Given the description of an element on the screen output the (x, y) to click on. 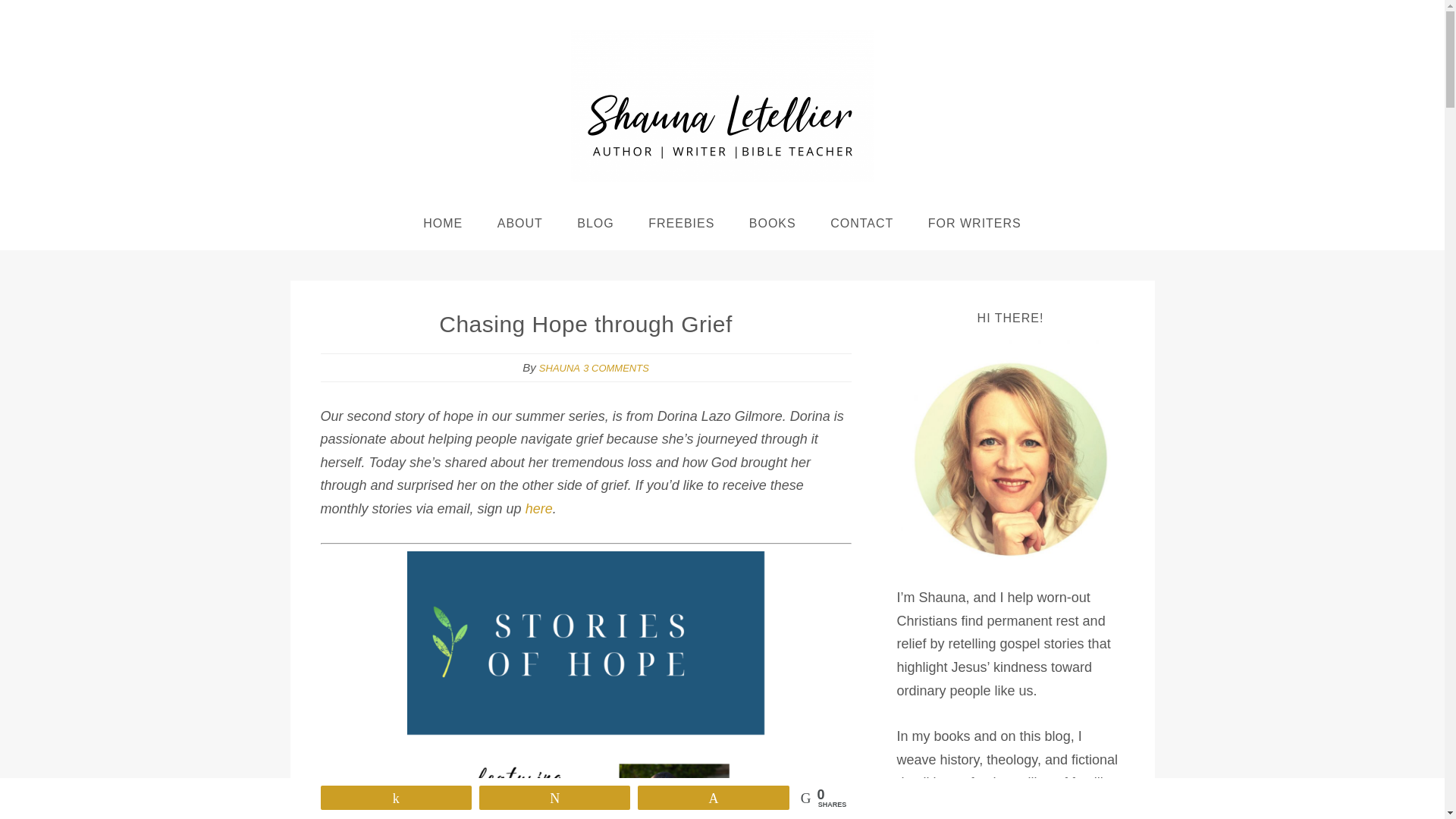
SHAUNA LETELLIER (721, 105)
CONTACT (861, 223)
3 COMMENTS (616, 367)
FOR WRITERS (974, 223)
FREEBIES (681, 223)
HOME (442, 223)
here (539, 508)
BOOKS (771, 223)
BLOG (595, 223)
SHAUNA (558, 367)
